Given the description of an element on the screen output the (x, y) to click on. 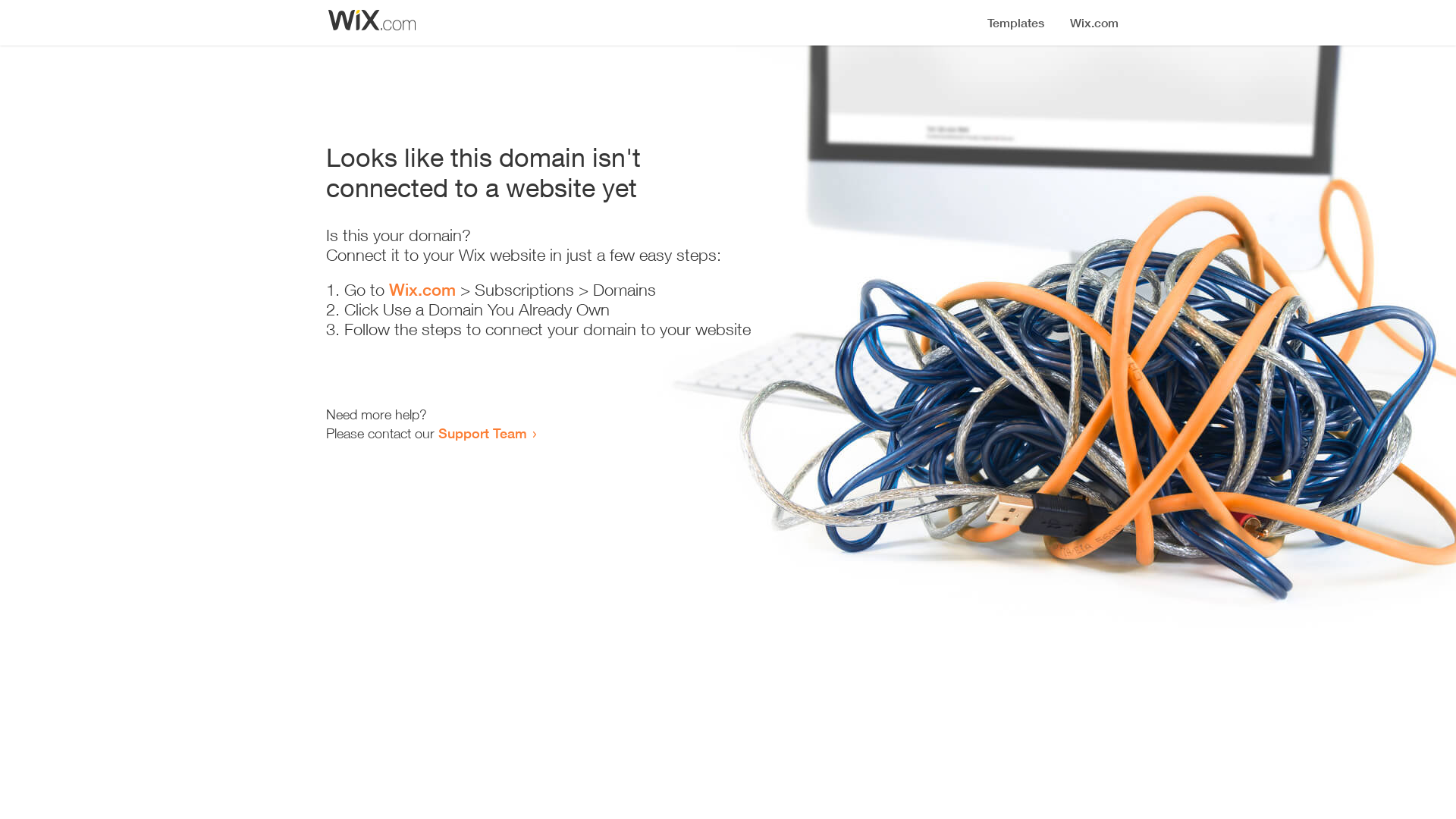
Support Team Element type: text (482, 432)
Wix.com Element type: text (422, 289)
